Given the description of an element on the screen output the (x, y) to click on. 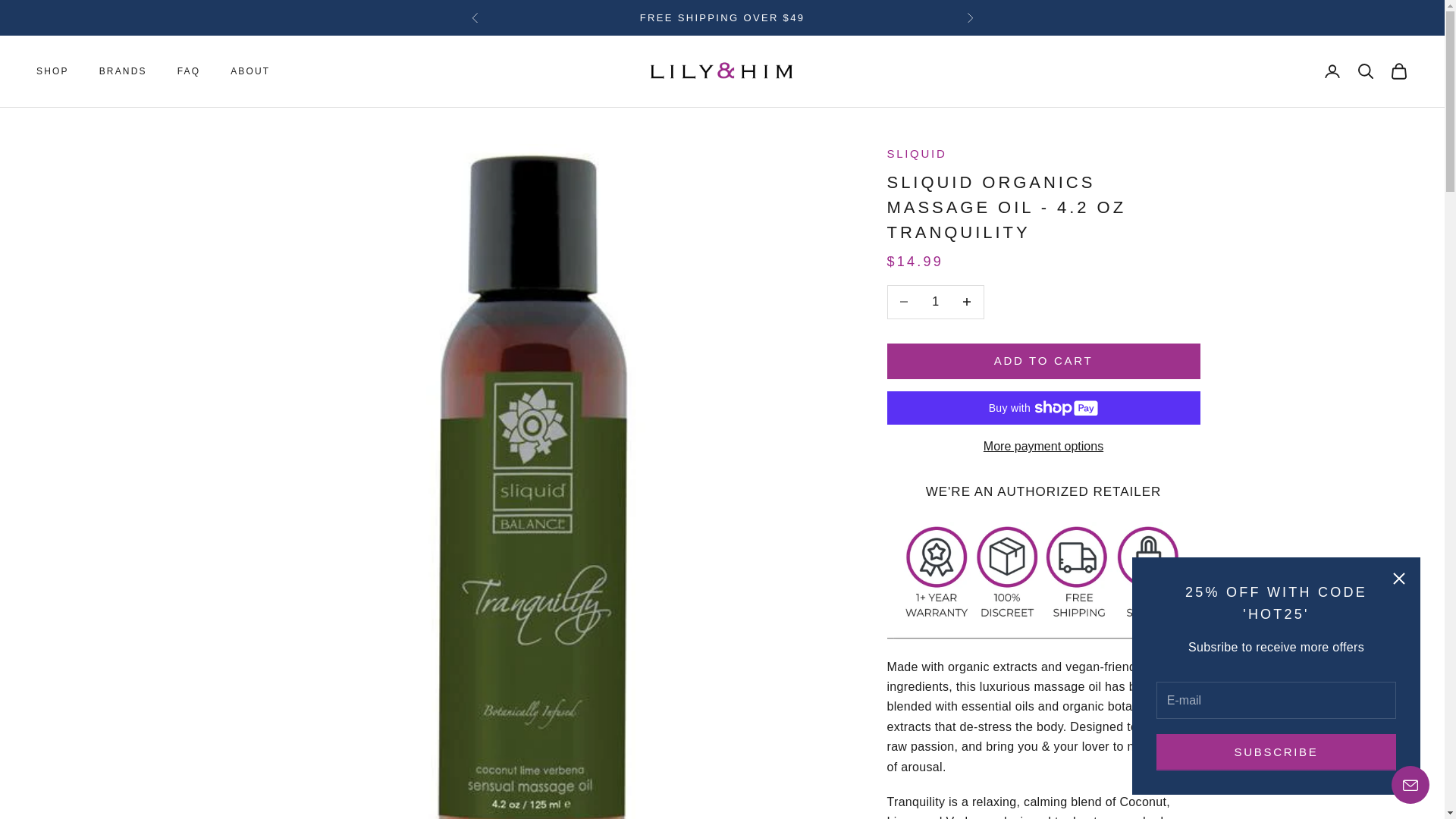
Previous (474, 17)
Open account page (1331, 71)
FAQ (188, 70)
Newsletter popup (1276, 675)
1 (935, 301)
ABOUT (249, 70)
Open cart (1398, 71)
Open search (1365, 71)
BRANDS (123, 70)
Next (968, 17)
